Given the description of an element on the screen output the (x, y) to click on. 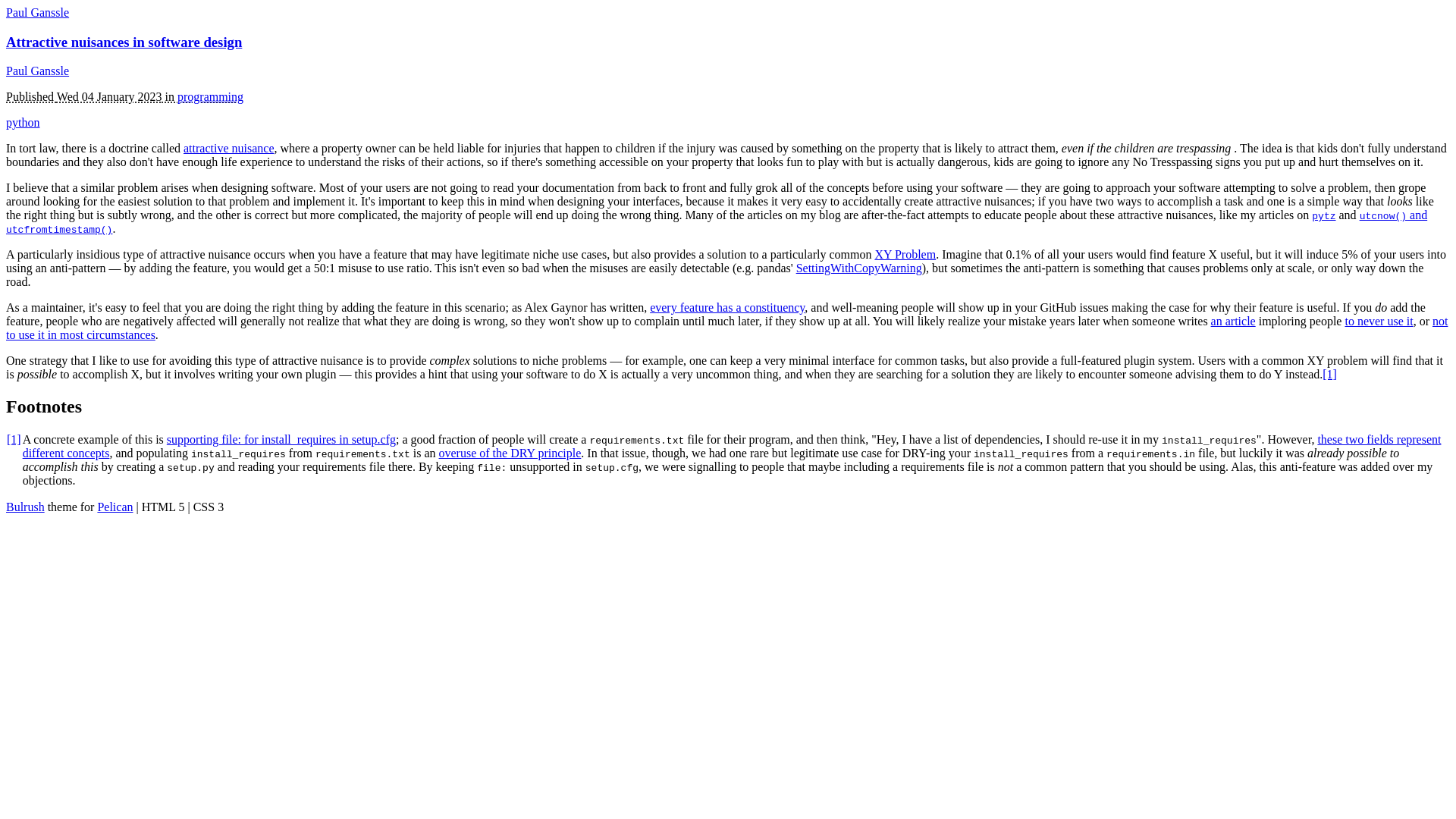
to never use it (1377, 320)
programming (210, 96)
XY Problem (905, 254)
these two fields represent different concepts (732, 446)
Paul Ganssle (36, 70)
SettingWithCopyWarning (858, 267)
overuse of the DRY principle (509, 452)
every feature has a constituency (727, 307)
Paul Ganssle (36, 11)
attractive nuisance (229, 147)
